Given the description of an element on the screen output the (x, y) to click on. 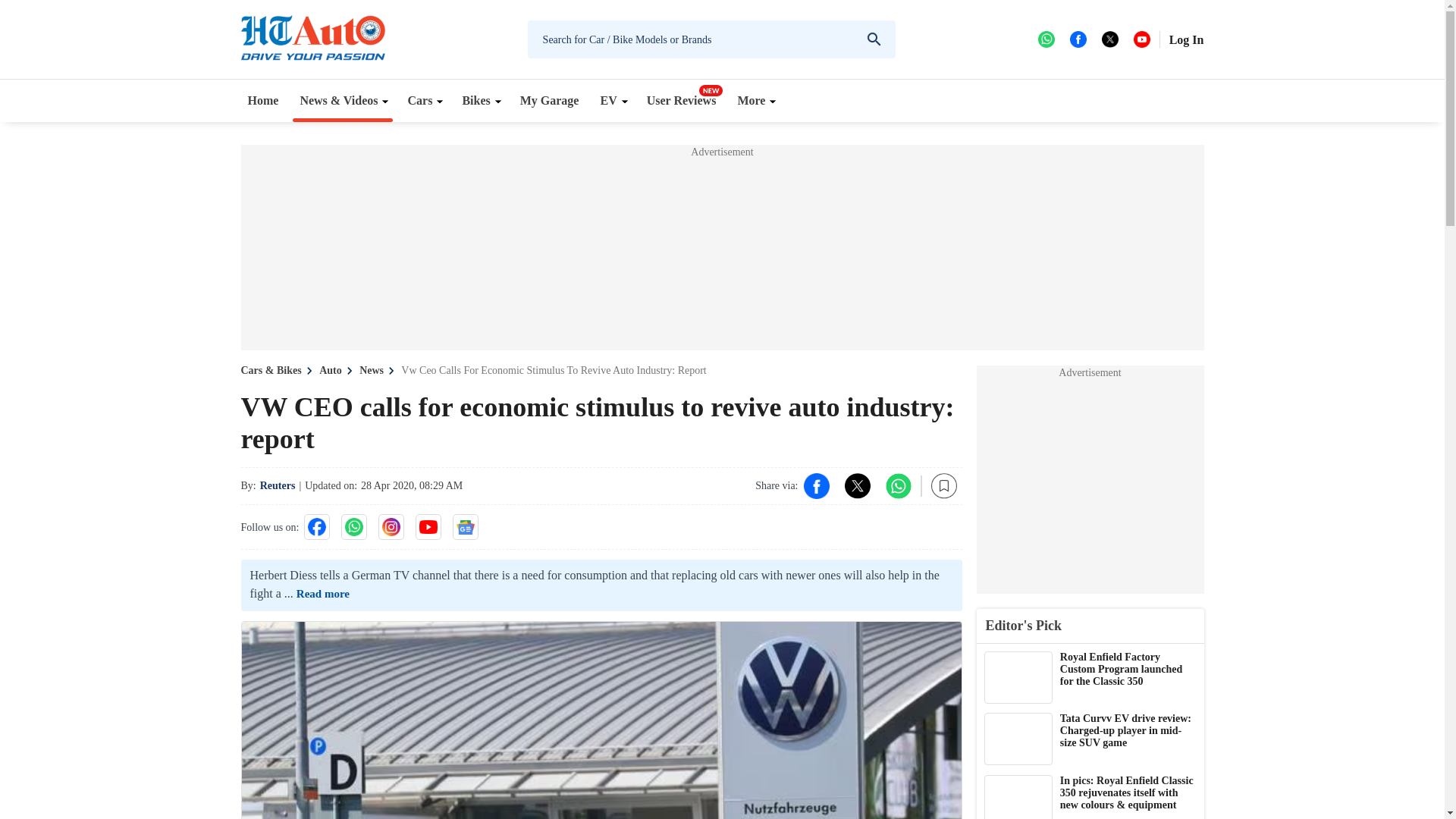
Bikes (479, 100)
Tweet (857, 485)
Facebook Share (816, 485)
Home (263, 100)
Log In (1186, 39)
My Garage (549, 100)
EV (611, 100)
Cars (423, 100)
